Given the description of an element on the screen output the (x, y) to click on. 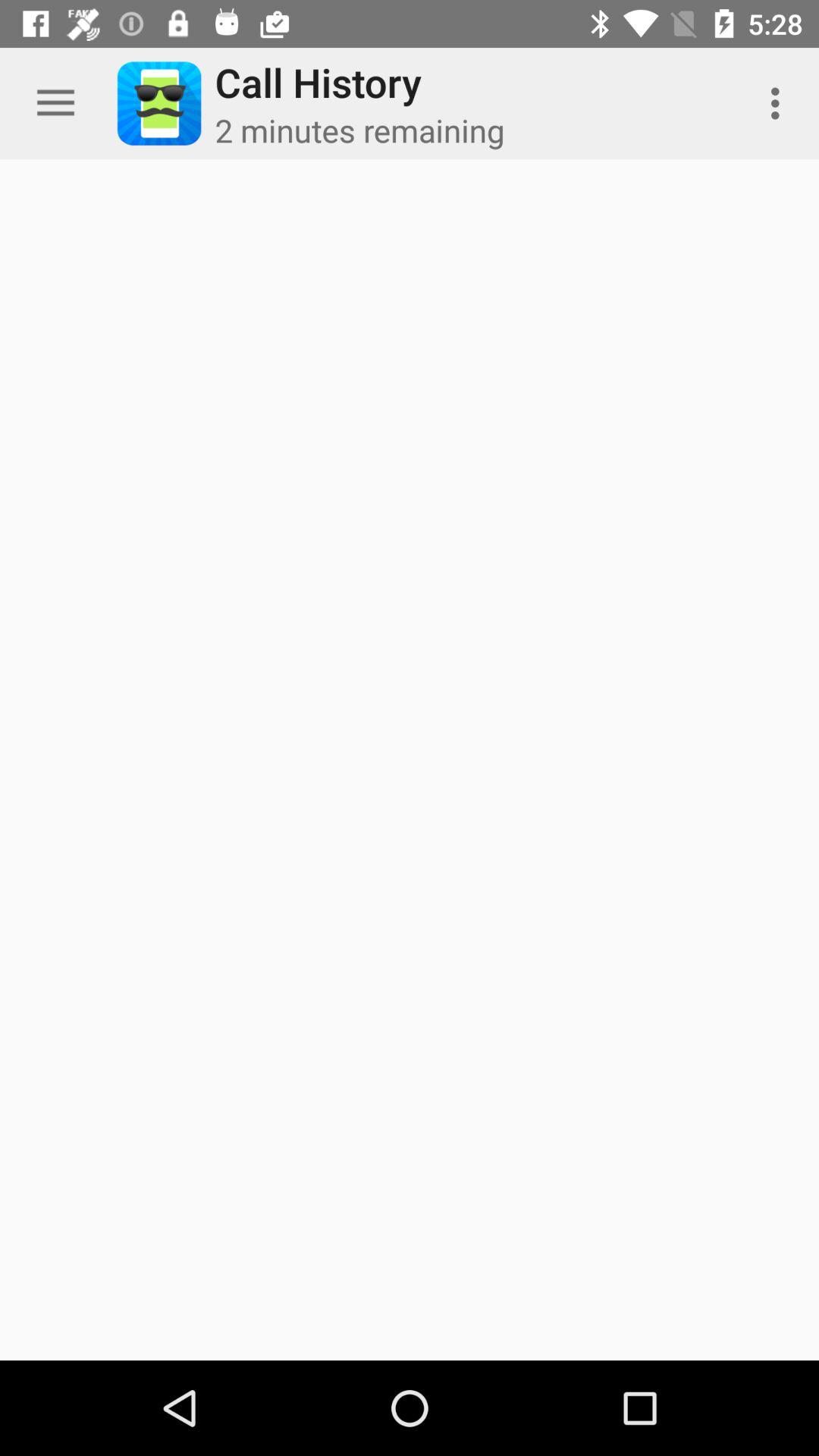
open icon at the top right corner (779, 103)
